Given the description of an element on the screen output the (x, y) to click on. 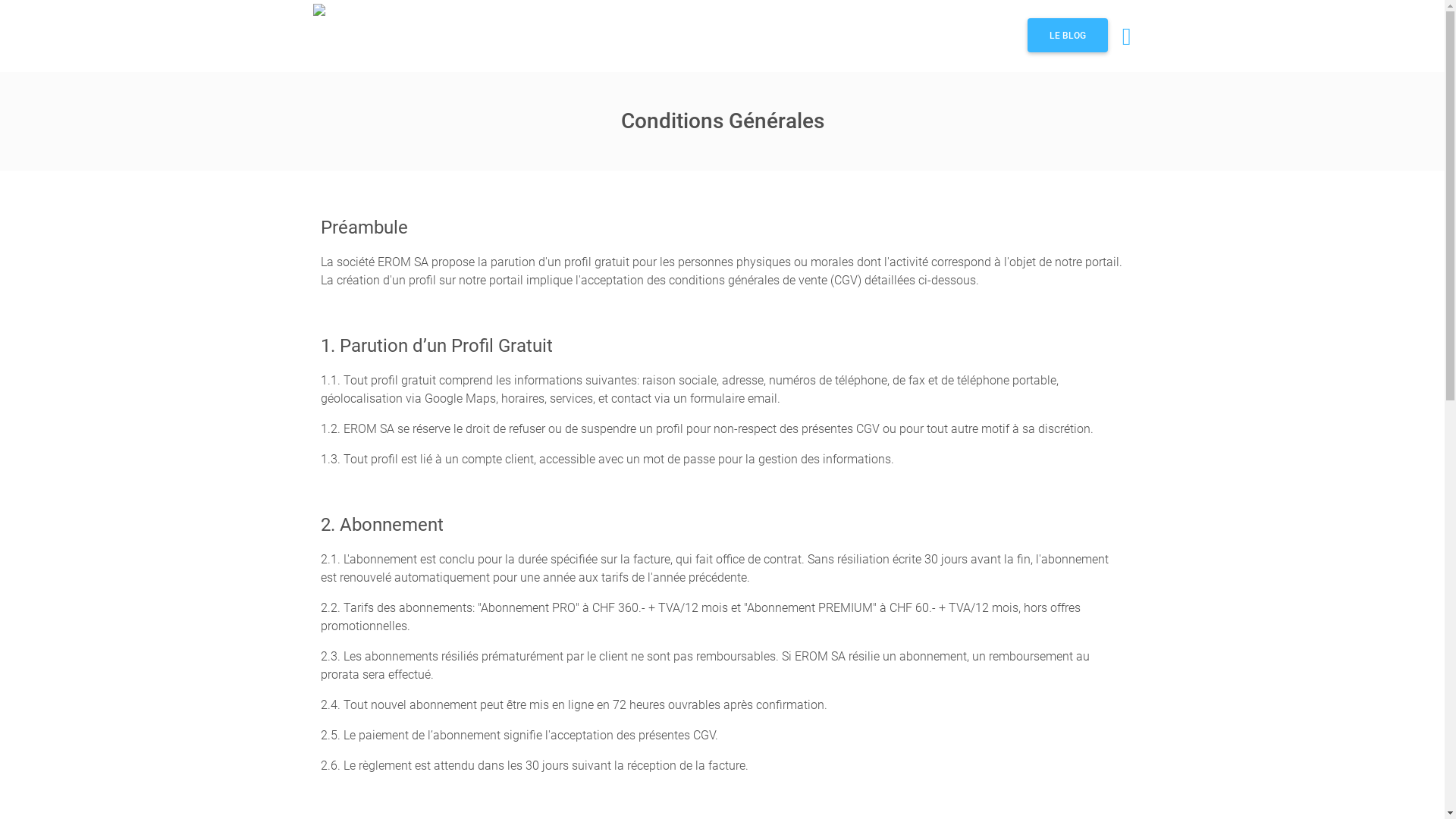
LE BLOG Element type: text (1067, 35)
